Given the description of an element on the screen output the (x, y) to click on. 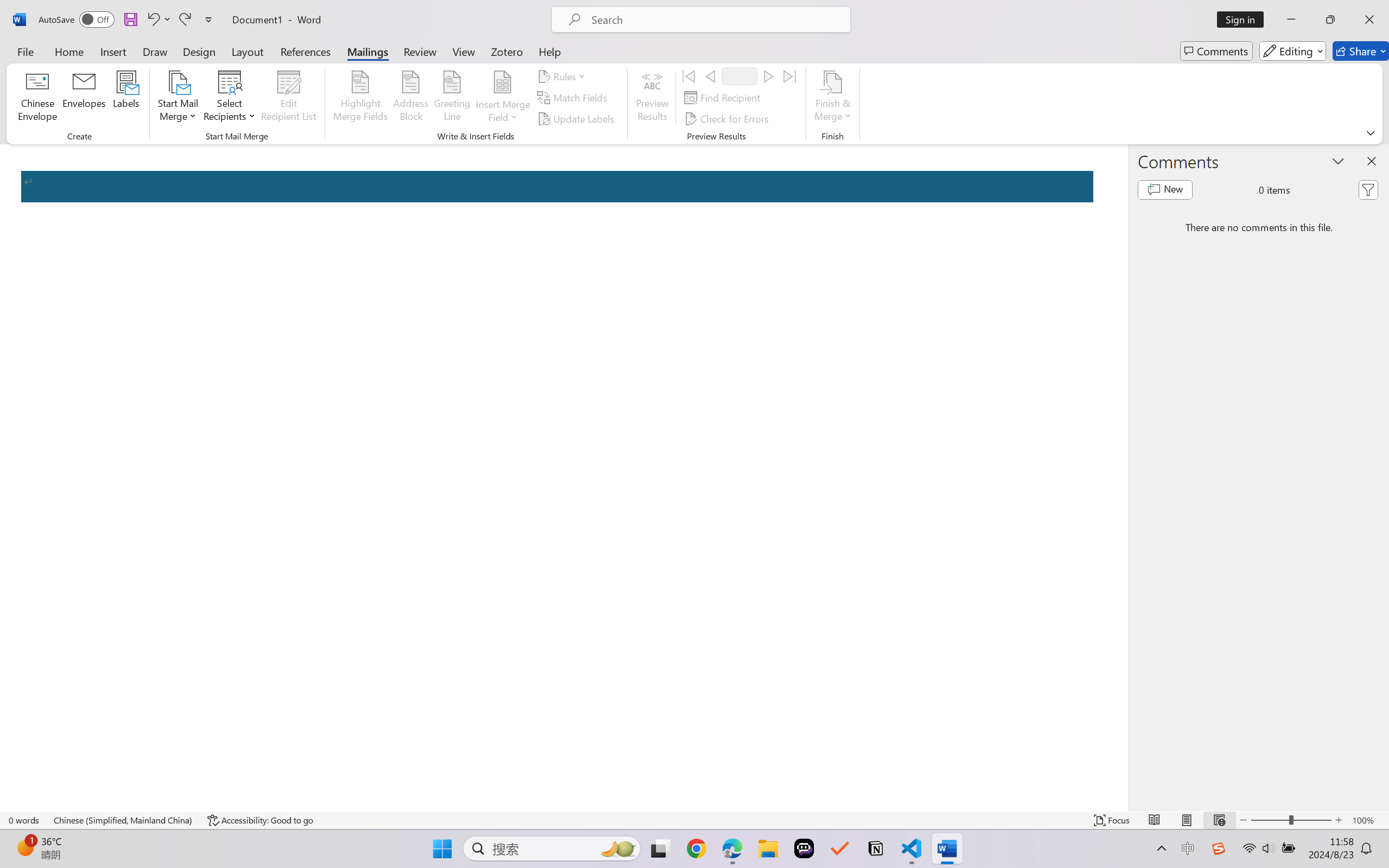
Autofill and passwords (67, 126)
Trusted Information and Content - Google Safety Center (989, 12)
Privacy and security (67, 150)
AutomationID: menu (68, 282)
Create your Google Account (474, 12)
About Chrome (67, 460)
Search settings (702, 69)
